Given the description of an element on the screen output the (x, y) to click on. 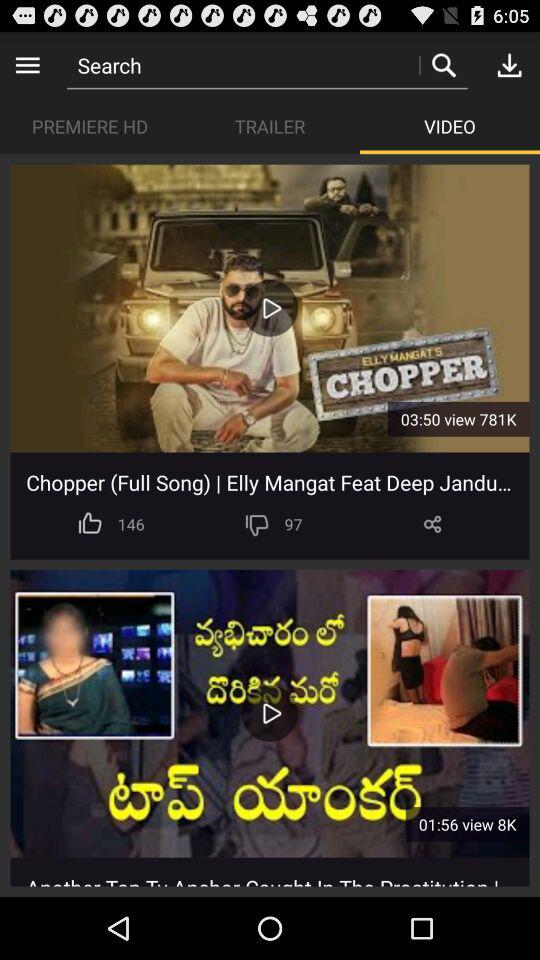
swipe to 146 (130, 523)
